Given the description of an element on the screen output the (x, y) to click on. 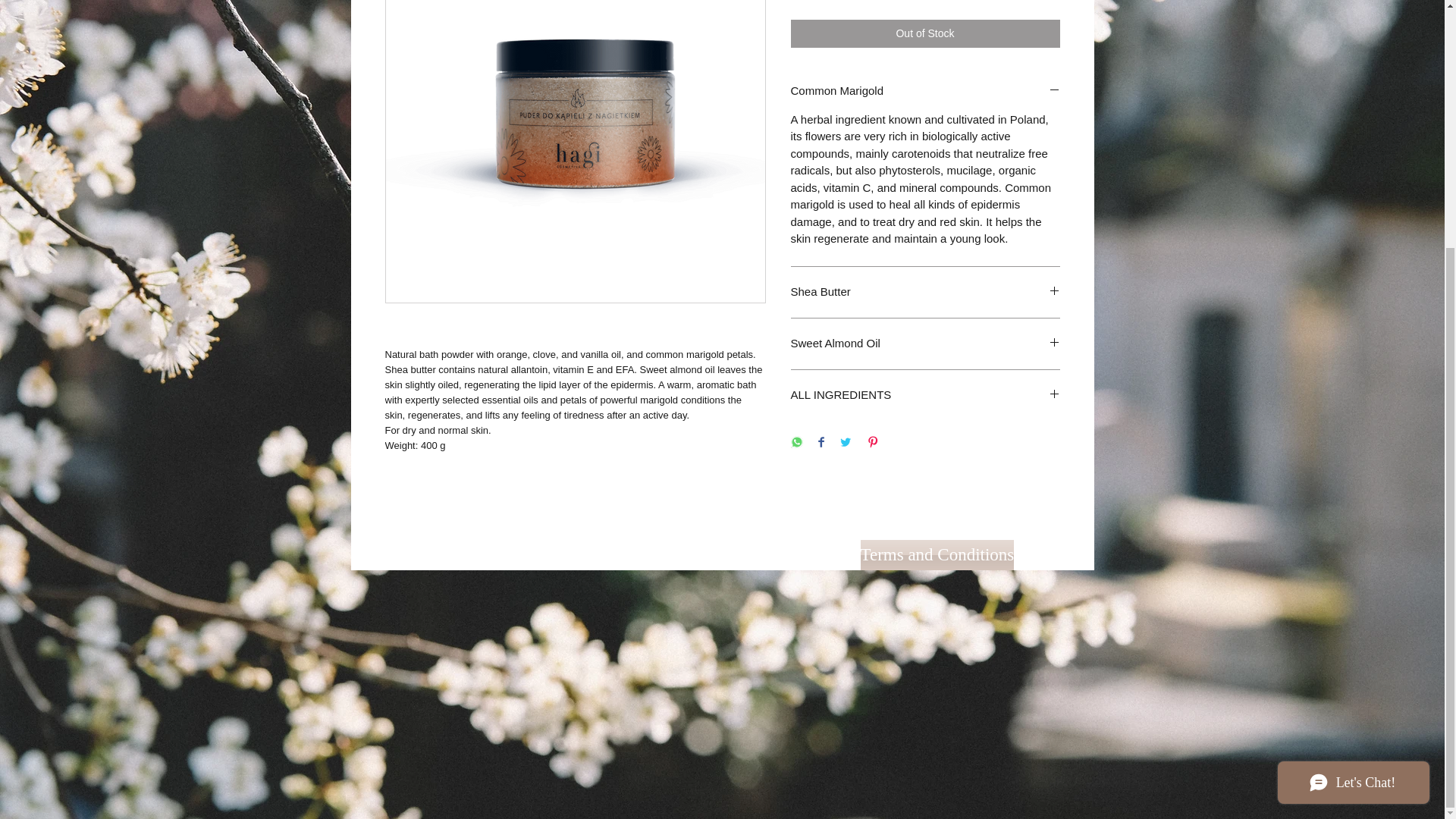
Out of Stock (924, 32)
